Given the description of an element on the screen output the (x, y) to click on. 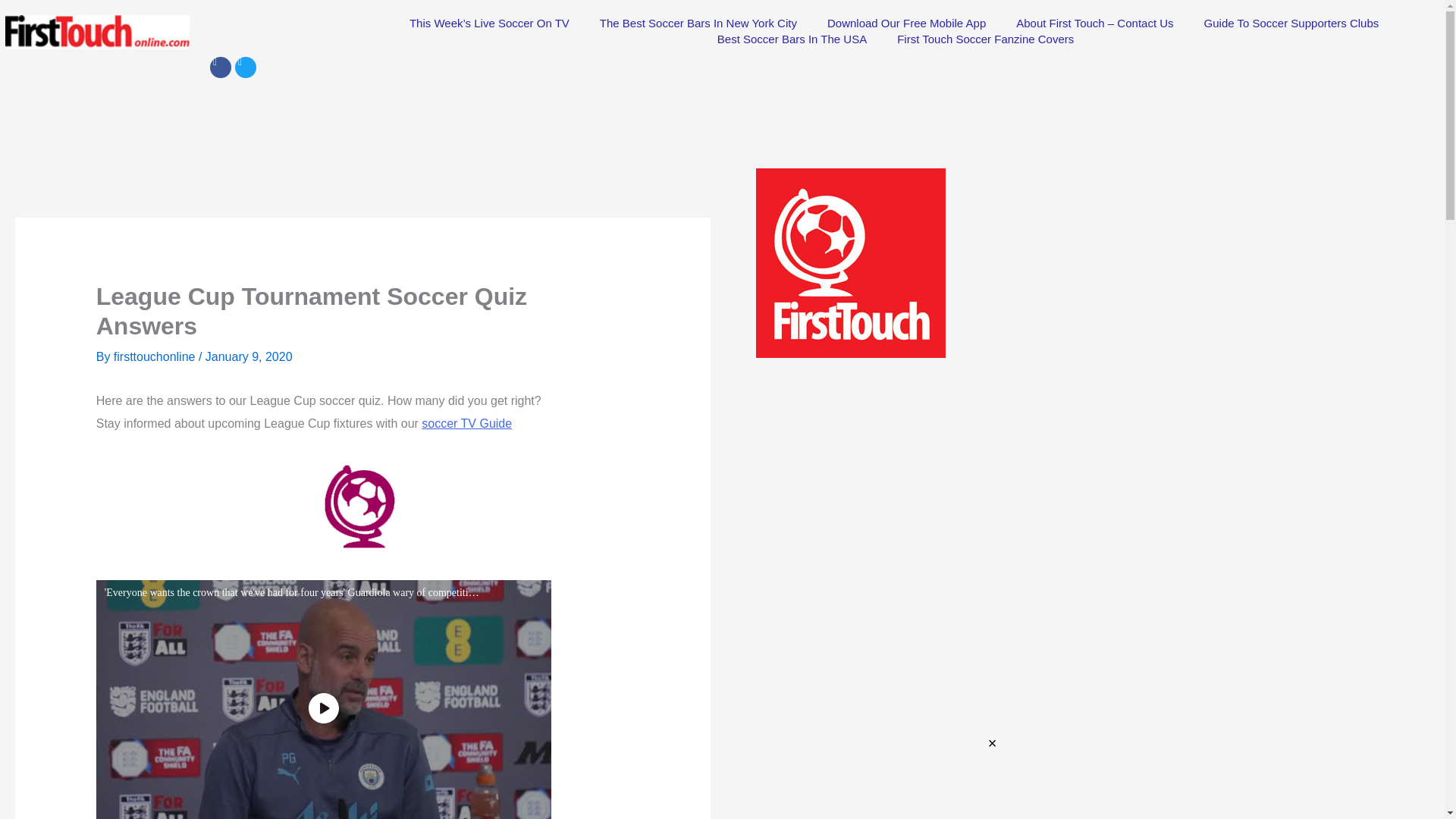
Best Soccer Bars In The USA (791, 38)
View all posts by firsttouchonline (155, 356)
Download Our Free Mobile App (905, 23)
firsttouchonline (155, 356)
Facebook (219, 66)
The Best Soccer Bars In New York City (698, 23)
Guide To Soccer Supporters Clubs (1292, 23)
First Touch Soccer Fanzine Covers (985, 38)
Twitter (245, 66)
